Given the description of an element on the screen output the (x, y) to click on. 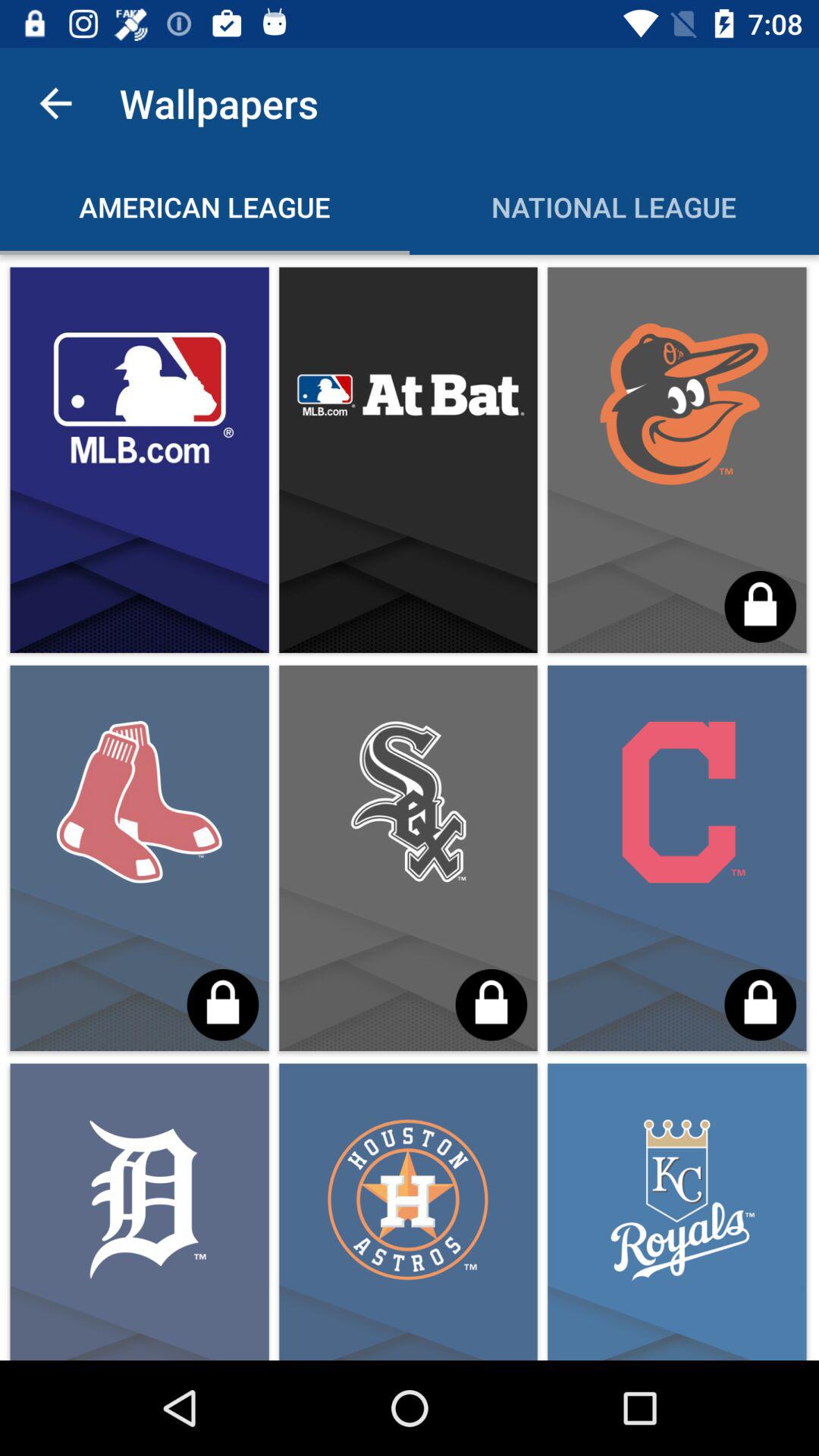
press the app to the left of the wallpapers (55, 103)
